Given the description of an element on the screen output the (x, y) to click on. 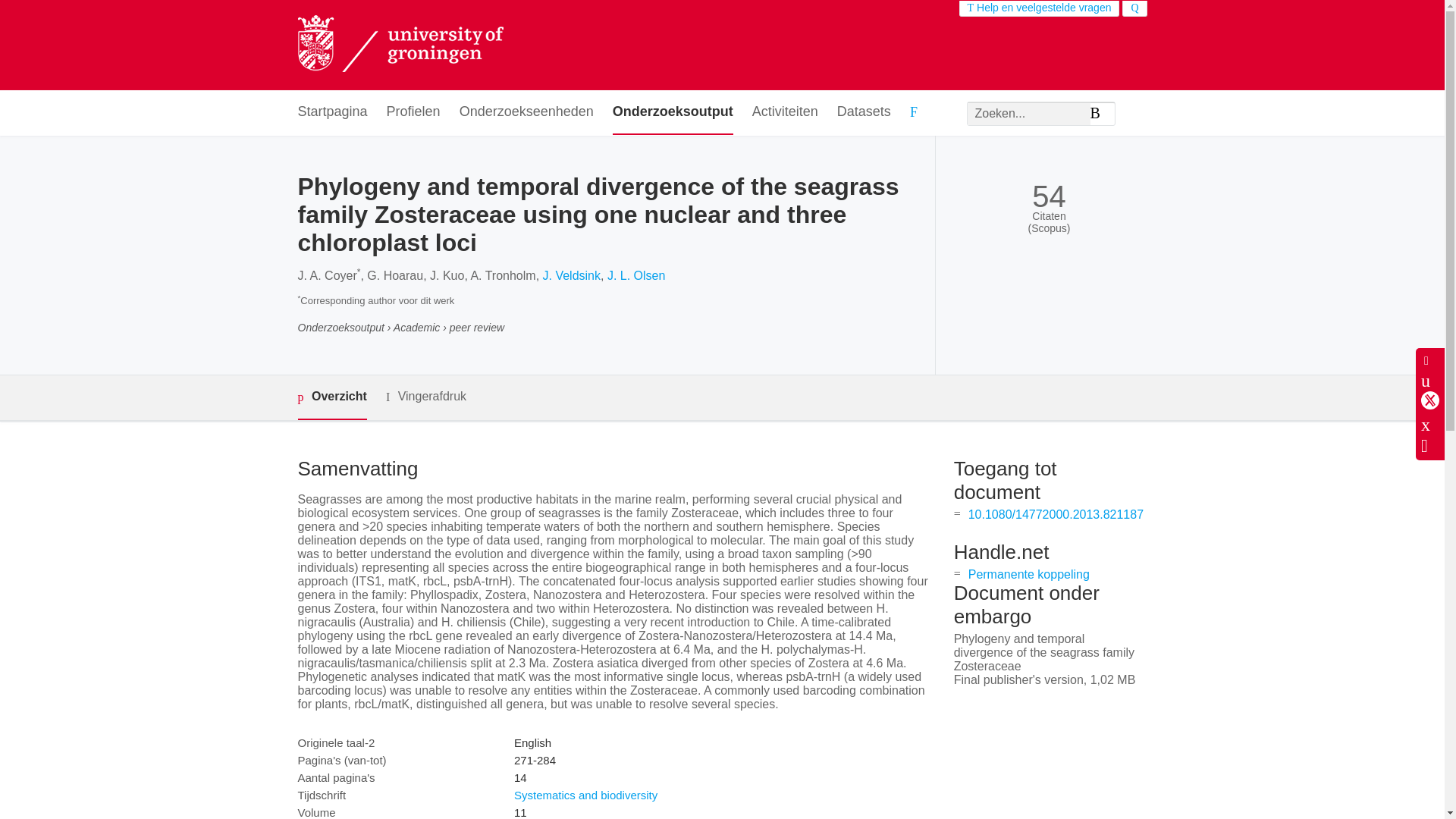
Onderzoekseenheden (527, 112)
Permanente koppeling (1028, 574)
J. L. Olsen (636, 275)
Startpagina (331, 112)
Systematics and biodiversity (585, 794)
Activiteiten (785, 112)
Vingerafdruk (425, 396)
Onderzoeksoutput (672, 112)
Overzicht (331, 397)
